Given the description of an element on the screen output the (x, y) to click on. 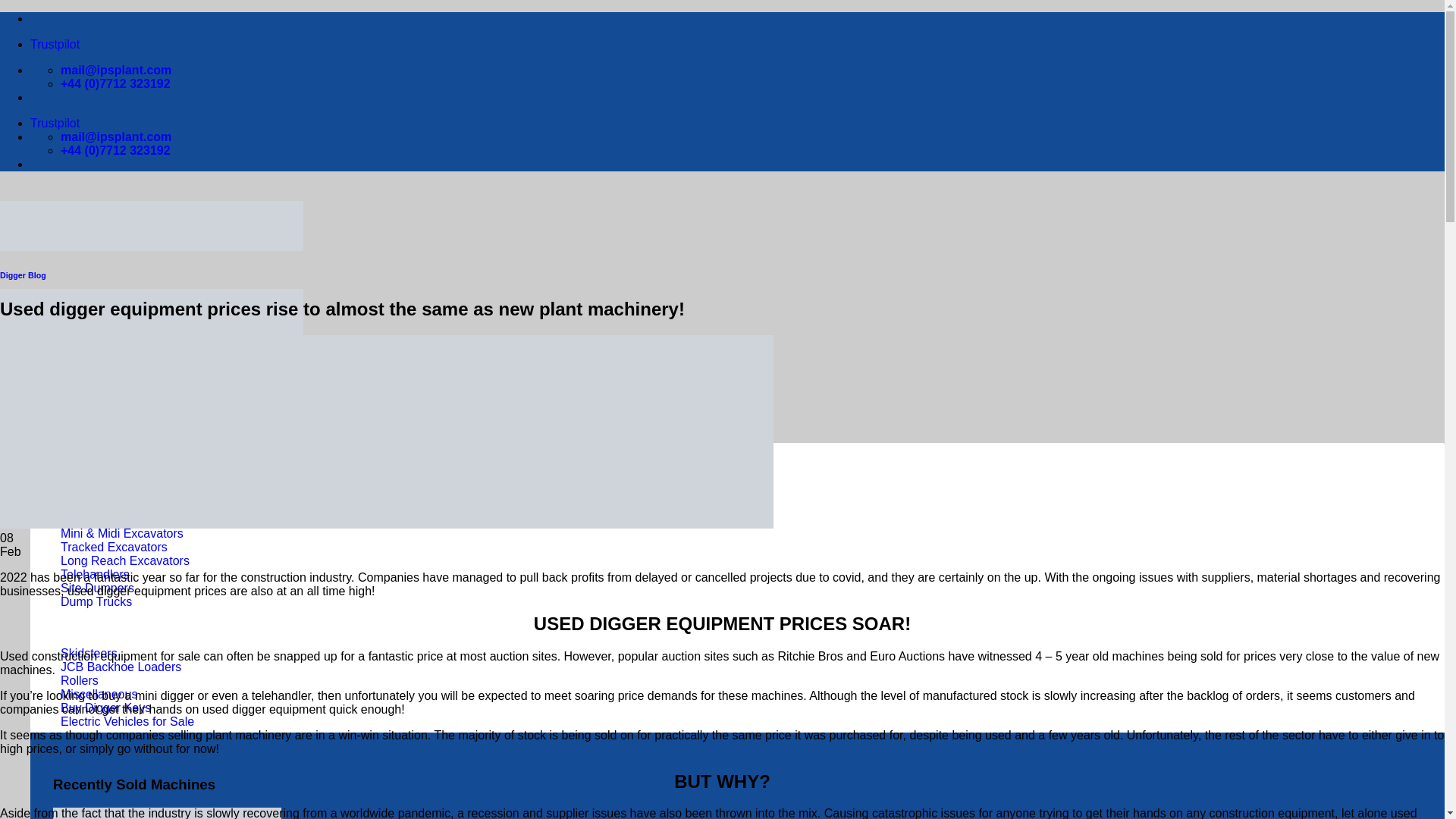
Dump Trucks (96, 601)
Electric Vehicles for Sale (127, 721)
Buy Digger Keys (106, 707)
JCB Backhoe Loaders (120, 666)
Telehandlers (95, 574)
International Plant Sales - Used Plant for Sale (151, 307)
Menu (46, 380)
Trustpilot (55, 123)
Skidsteers (89, 653)
Long Reach Excavators (125, 560)
